Given the description of an element on the screen output the (x, y) to click on. 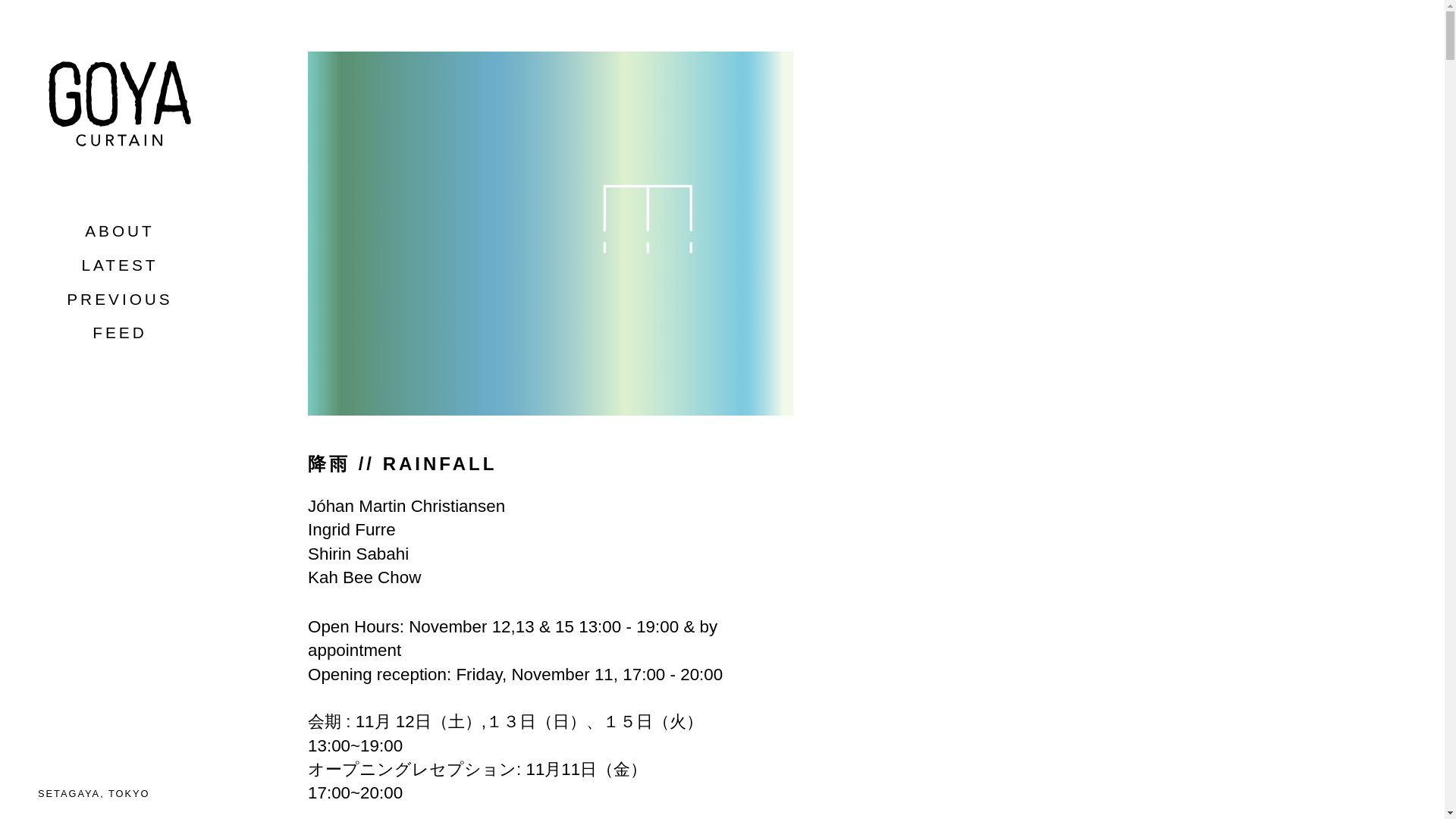
ABOUT (119, 230)
PREVIOUS (118, 298)
FEED (120, 332)
LATEST (119, 264)
